Given the description of an element on the screen output the (x, y) to click on. 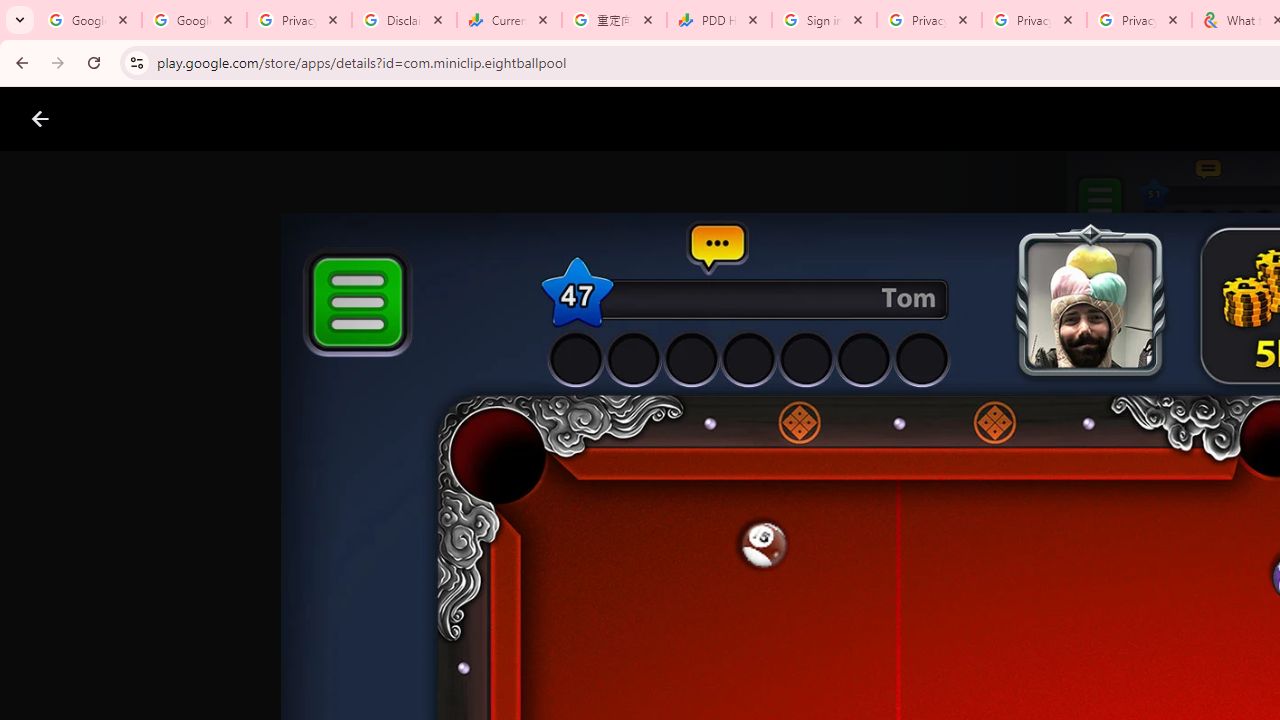
Currencies - Google Finance (509, 20)
Privacy Checkup (1138, 20)
Content rating (973, 656)
Google Workspace Admin Community (89, 20)
Games (248, 119)
Close screenshot viewer (39, 119)
